Given the description of an element on the screen output the (x, y) to click on. 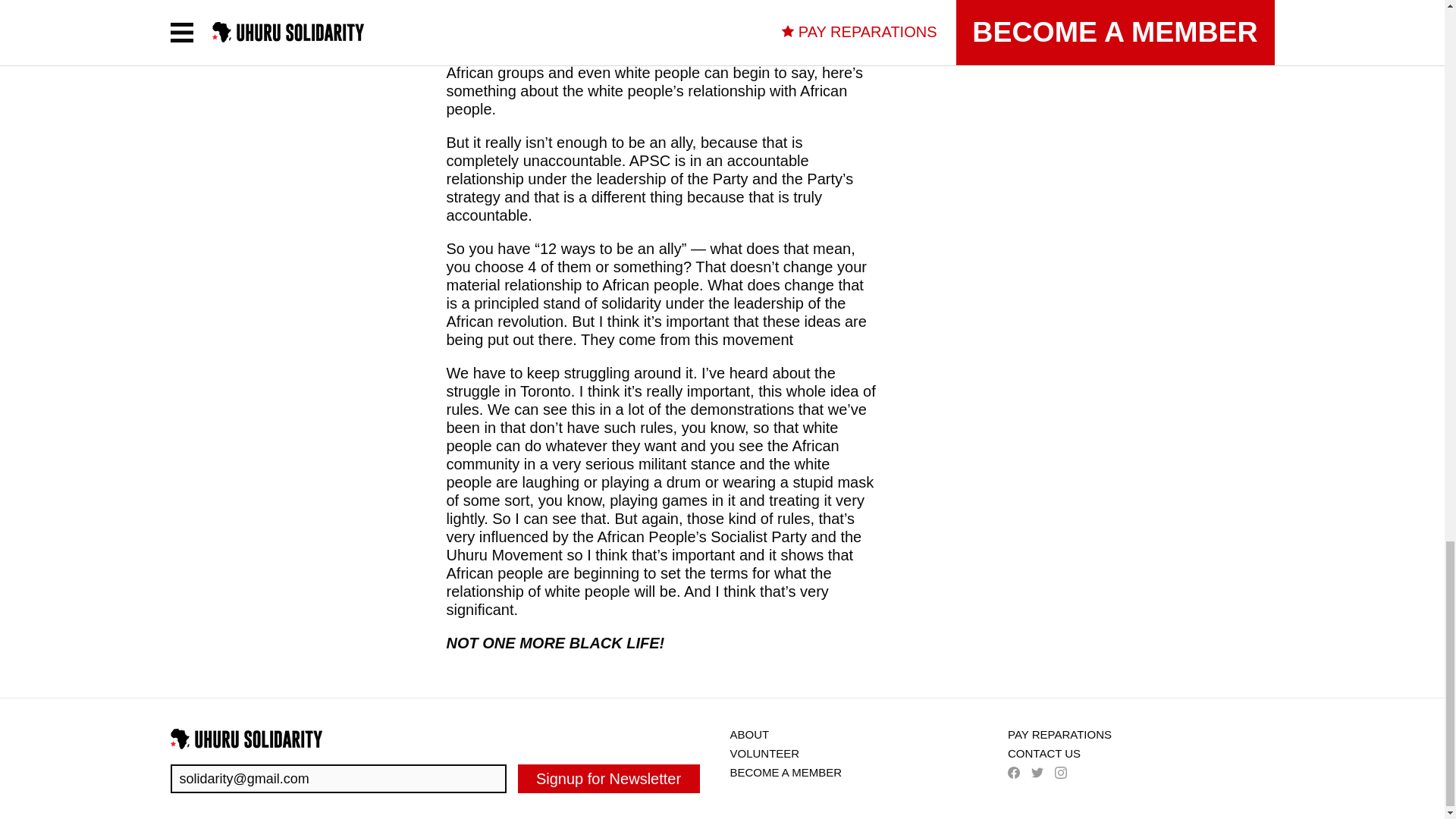
BECOME A MEMBER (785, 771)
ABOUT (748, 734)
VOLUNTEER (764, 753)
PAY REPARATIONS (1059, 734)
CONTACT US (1043, 753)
Signup for Newsletter (608, 778)
